Given the description of an element on the screen output the (x, y) to click on. 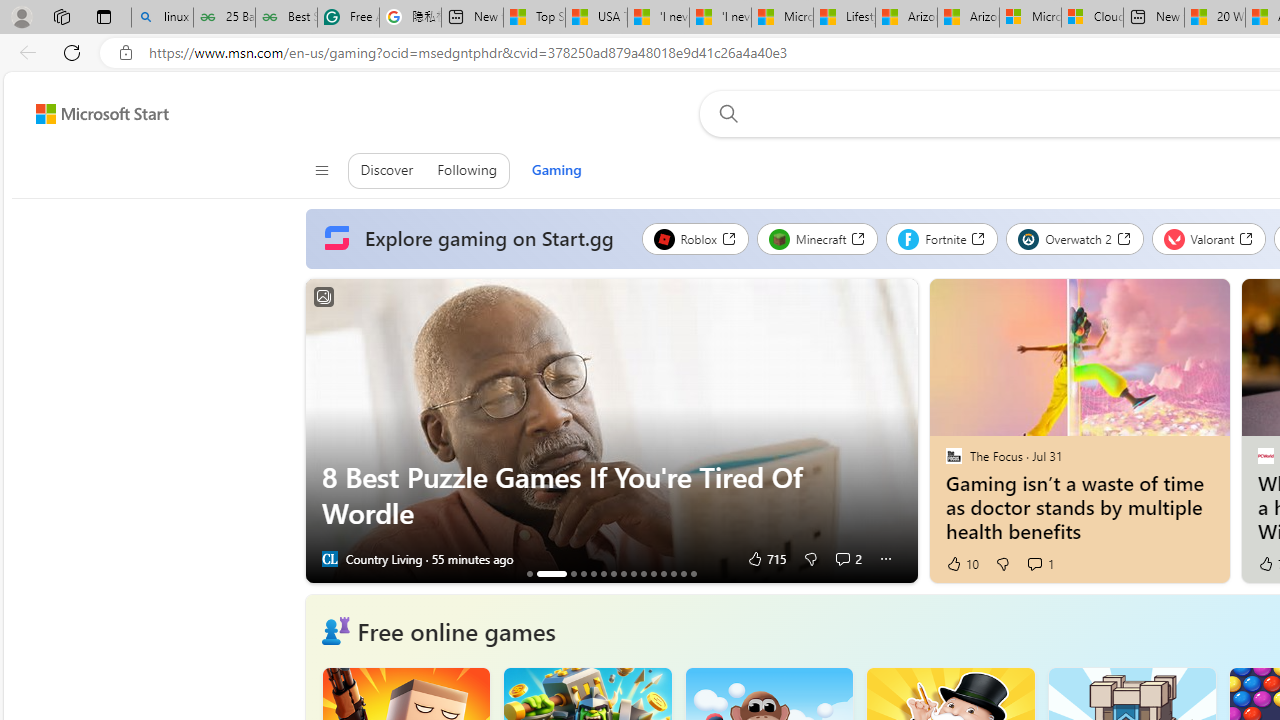
15 Surprising Benefits of Playing Video Games (693, 573)
Best SSL Certificates Provider in India - GeeksforGeeks (286, 17)
USA TODAY - MSN (596, 17)
20 Ways to Boost Your Protein Intake at Every Meal (1215, 17)
8 Best Puzzle Games If You're Tired Of Wordle (551, 573)
715 Like (766, 558)
Free online games (456, 630)
AutomationID: casualCarouselIcon (335, 631)
